Given the description of an element on the screen output the (x, y) to click on. 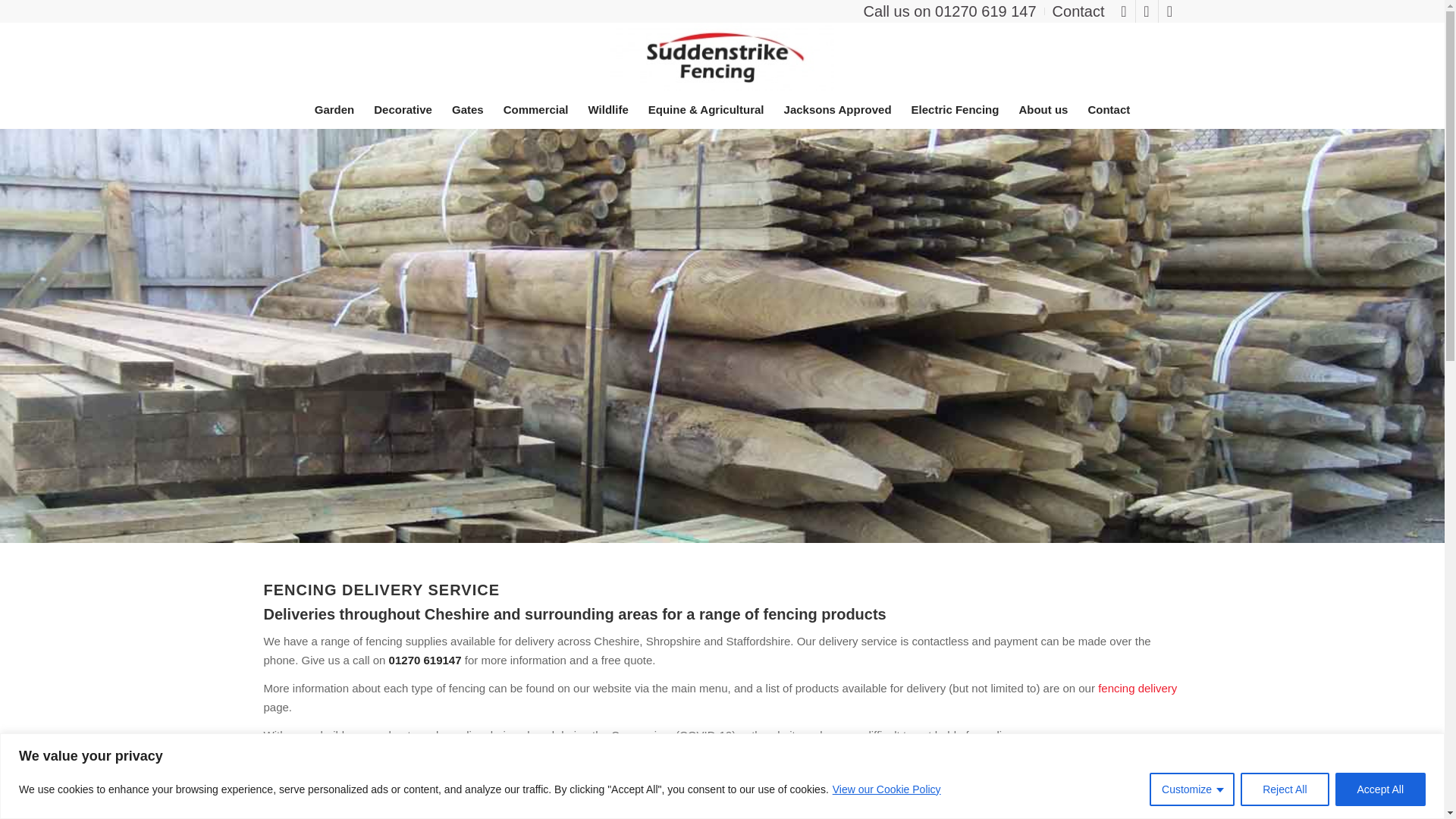
Reject All (1283, 788)
Twitter (1146, 11)
Garden (334, 109)
Gates (467, 109)
Instagram (1169, 11)
Customize (1192, 788)
Contact (1078, 12)
Decorative (403, 109)
Facebook (1124, 11)
Commercial (535, 109)
